Given the description of an element on the screen output the (x, y) to click on. 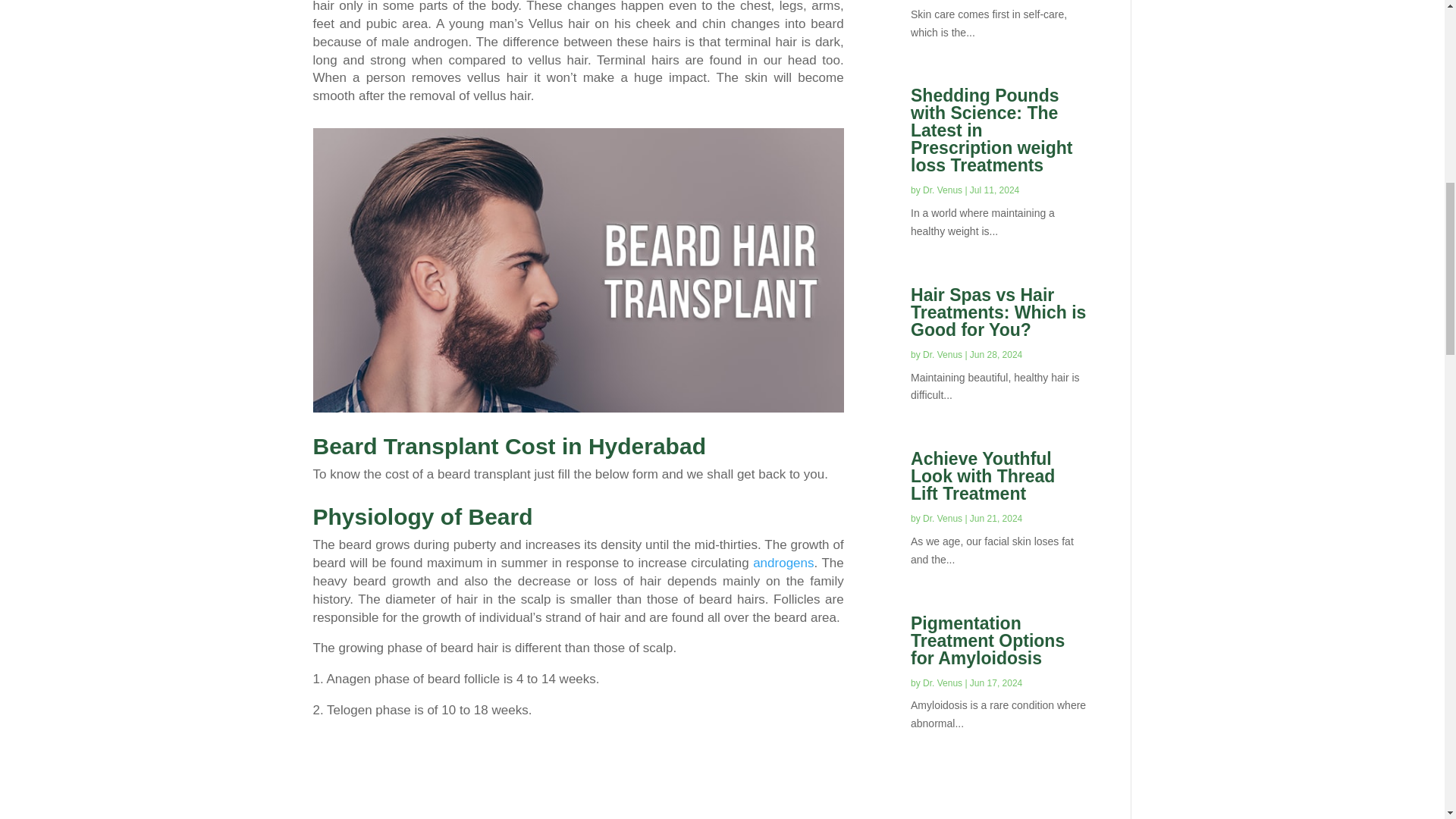
Posts by Dr. Venus (942, 683)
Posts by Dr. Venus (942, 354)
Posts by Dr. Venus (942, 518)
Posts by Dr. Venus (942, 190)
